Given the description of an element on the screen output the (x, y) to click on. 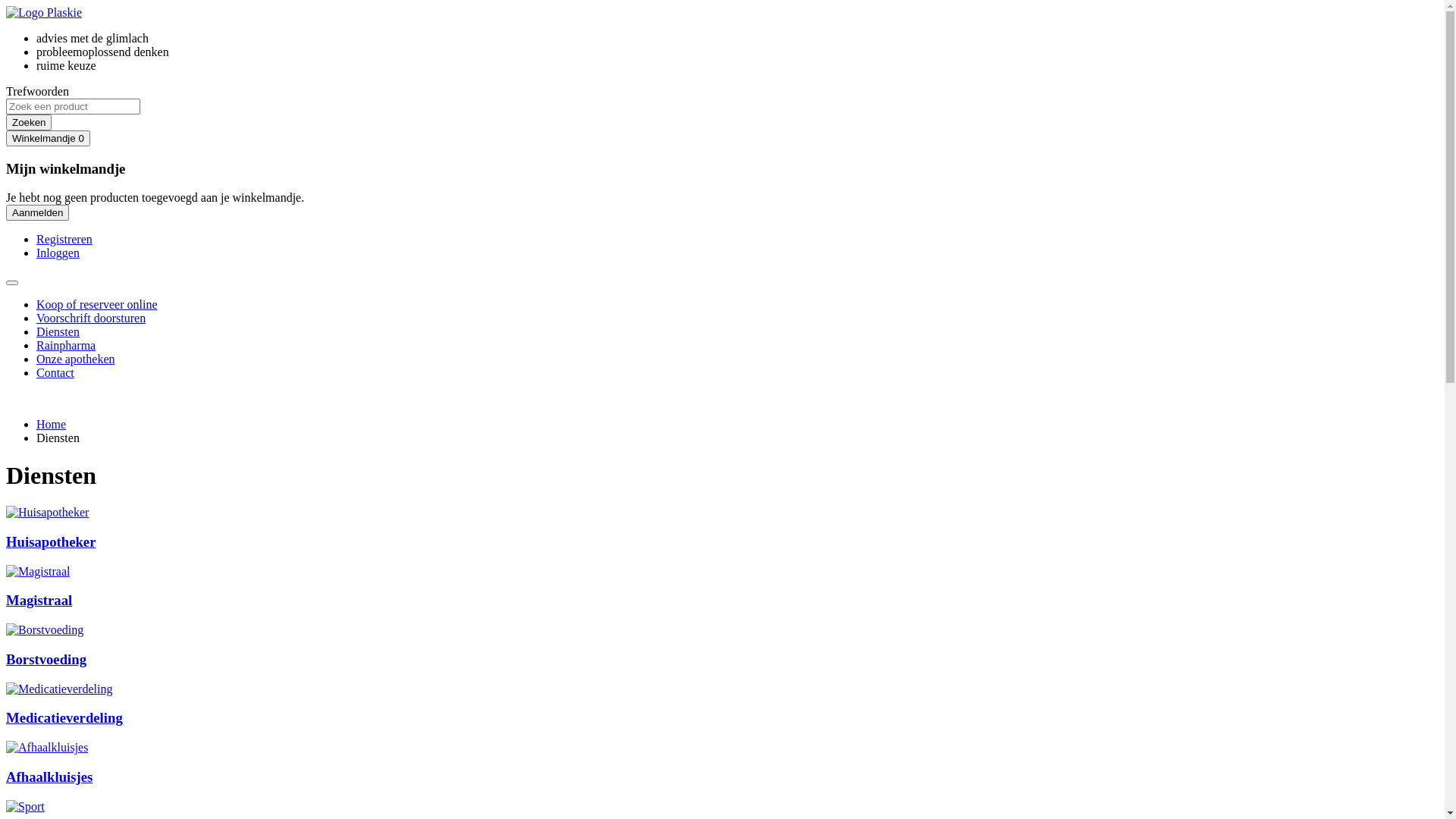
Registreren Element type: text (64, 238)
Afhaalkluisjes Element type: text (49, 776)
Huisapotheker Element type: text (50, 541)
Zoeken Element type: text (28, 122)
Medicatieverdeling Element type: text (64, 717)
Winkelmandje 0 Element type: text (48, 138)
Magistraal Element type: text (39, 600)
Rainpharma Element type: text (65, 344)
Contact Element type: text (55, 372)
Inloggen Element type: text (57, 252)
Onze apotheken Element type: text (75, 358)
Aanmelden Element type: text (37, 212)
Diensten Element type: text (57, 331)
Koop of reserveer online Element type: text (96, 304)
Voorschrift doorsturen Element type: text (90, 317)
Borstvoeding Element type: text (46, 659)
Home Element type: text (50, 423)
